Given the description of an element on the screen output the (x, y) to click on. 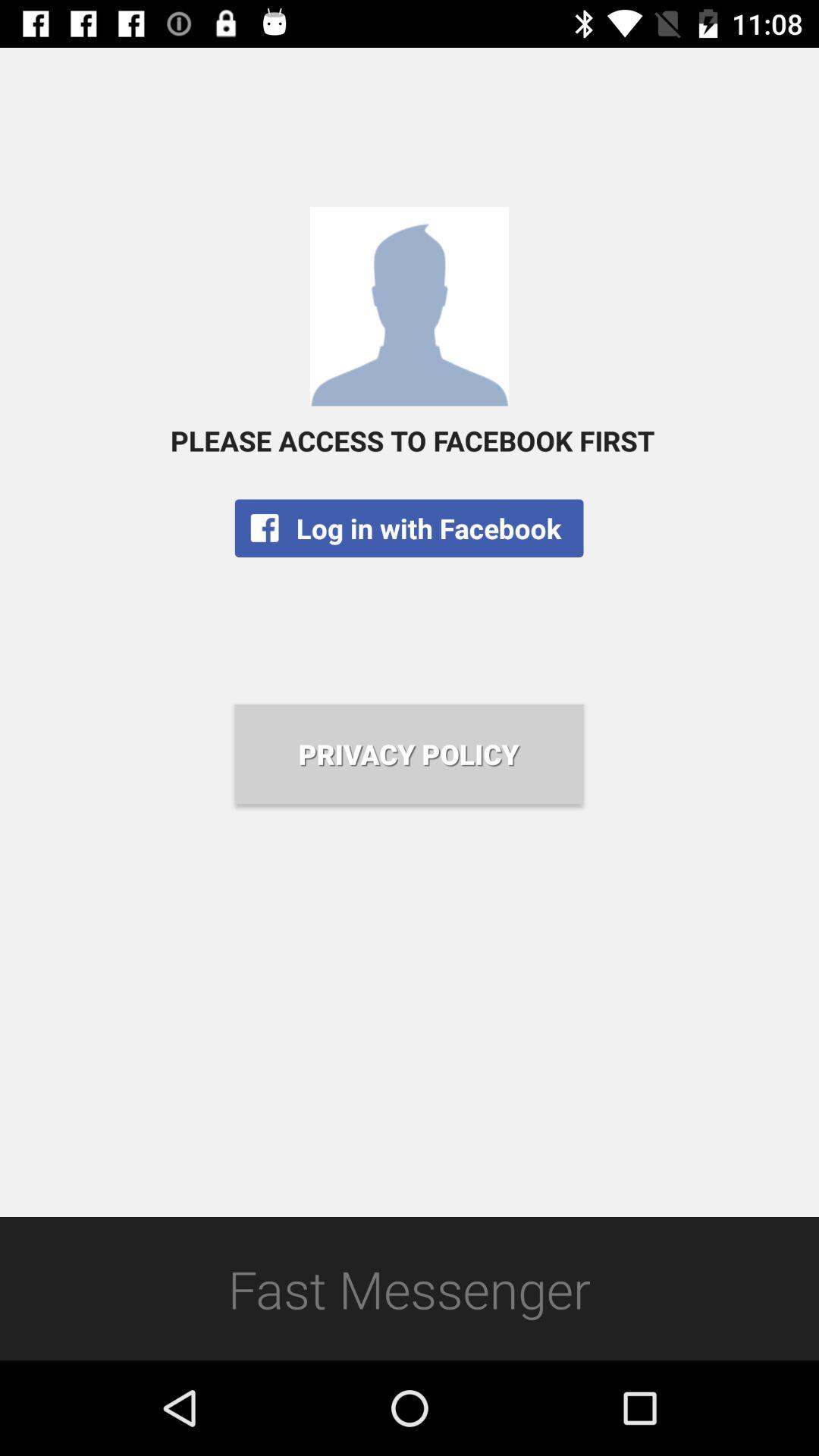
open the app below the please access to (408, 528)
